Given the description of an element on the screen output the (x, y) to click on. 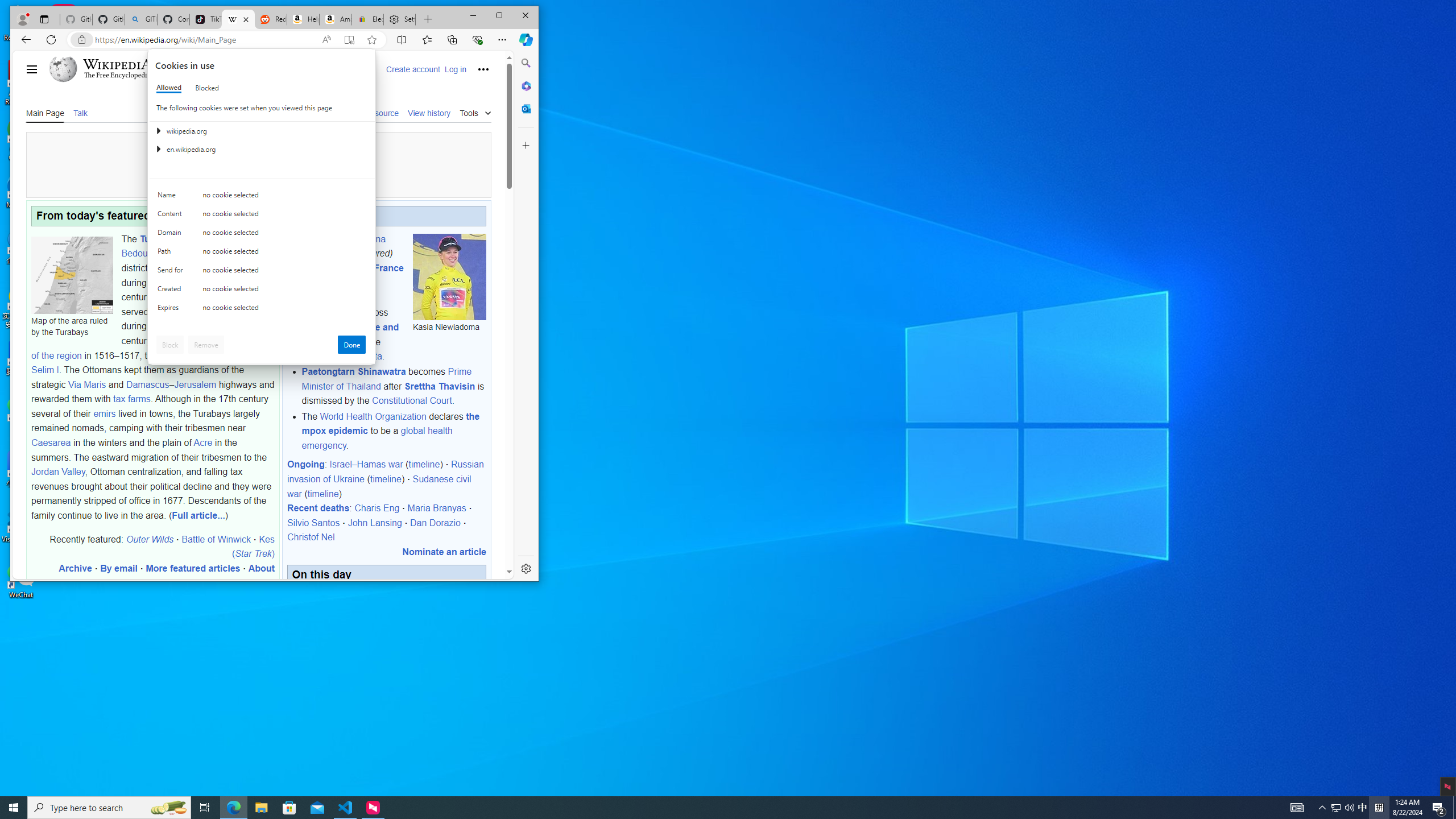
Name (172, 197)
Content (172, 216)
Send for (172, 272)
Done (351, 344)
Expires (172, 310)
no cookie selected (284, 310)
Created (172, 291)
